Given the description of an element on the screen output the (x, y) to click on. 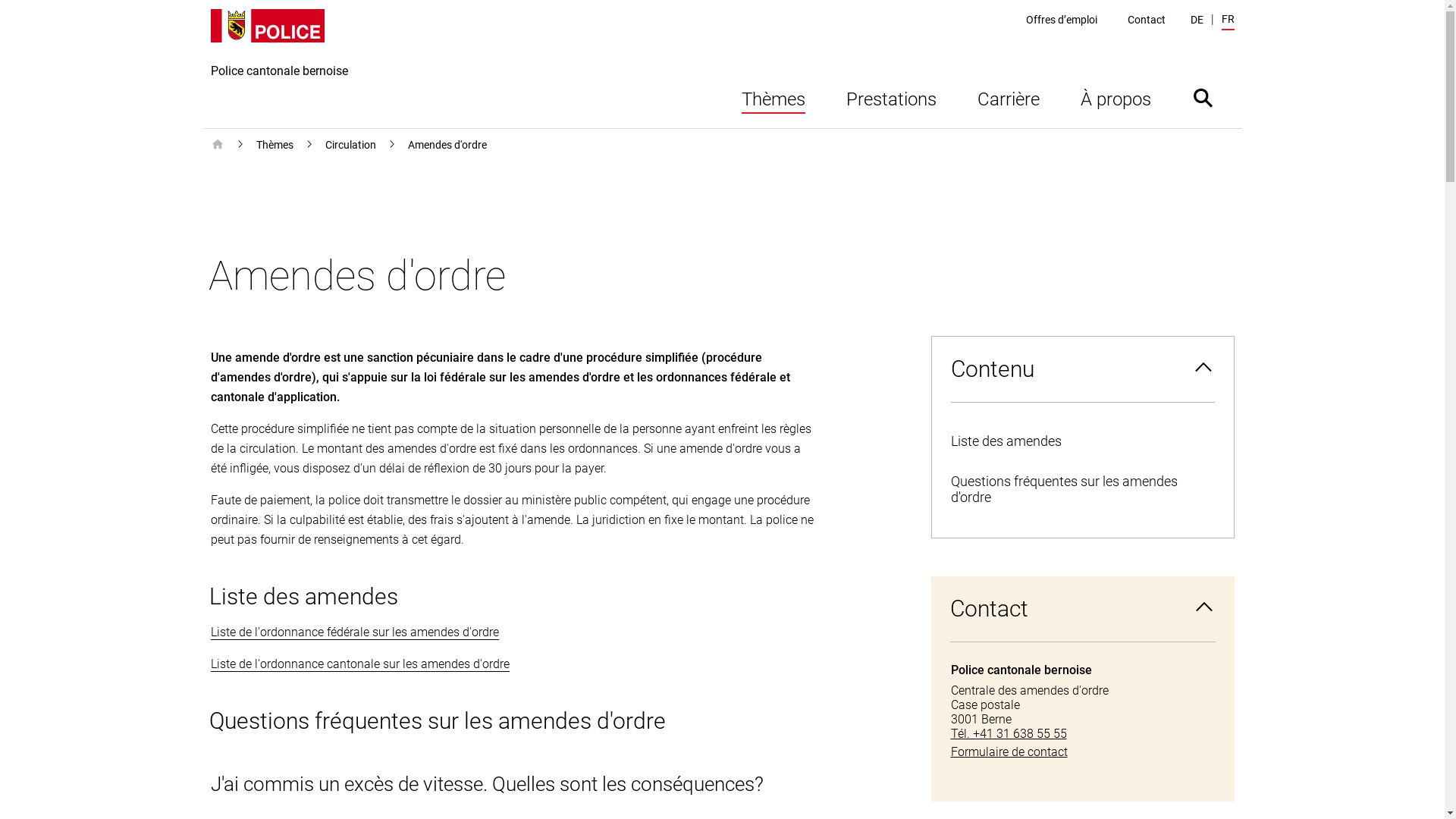
Liste de l'ordonnance cantonale sur les amendes d'ordre Element type: text (359, 663)
Contact Element type: text (1146, 19)
Circulation Element type: text (349, 144)
Contact Element type: text (1082, 608)
Contenu Element type: text (1082, 368)
Formulaire de contact Element type: text (1082, 751)
DE Element type: text (1196, 19)
Afficher/masquer la barre de recherche Element type: text (1201, 96)
Liste des amendes Element type: text (1082, 441)
FR Element type: text (1226, 21)
Amendes d'ordre Element type: text (446, 144)
Police cantonale bernoise Element type: text (279, 68)
Prestations Element type: text (890, 96)
